Given the description of an element on the screen output the (x, y) to click on. 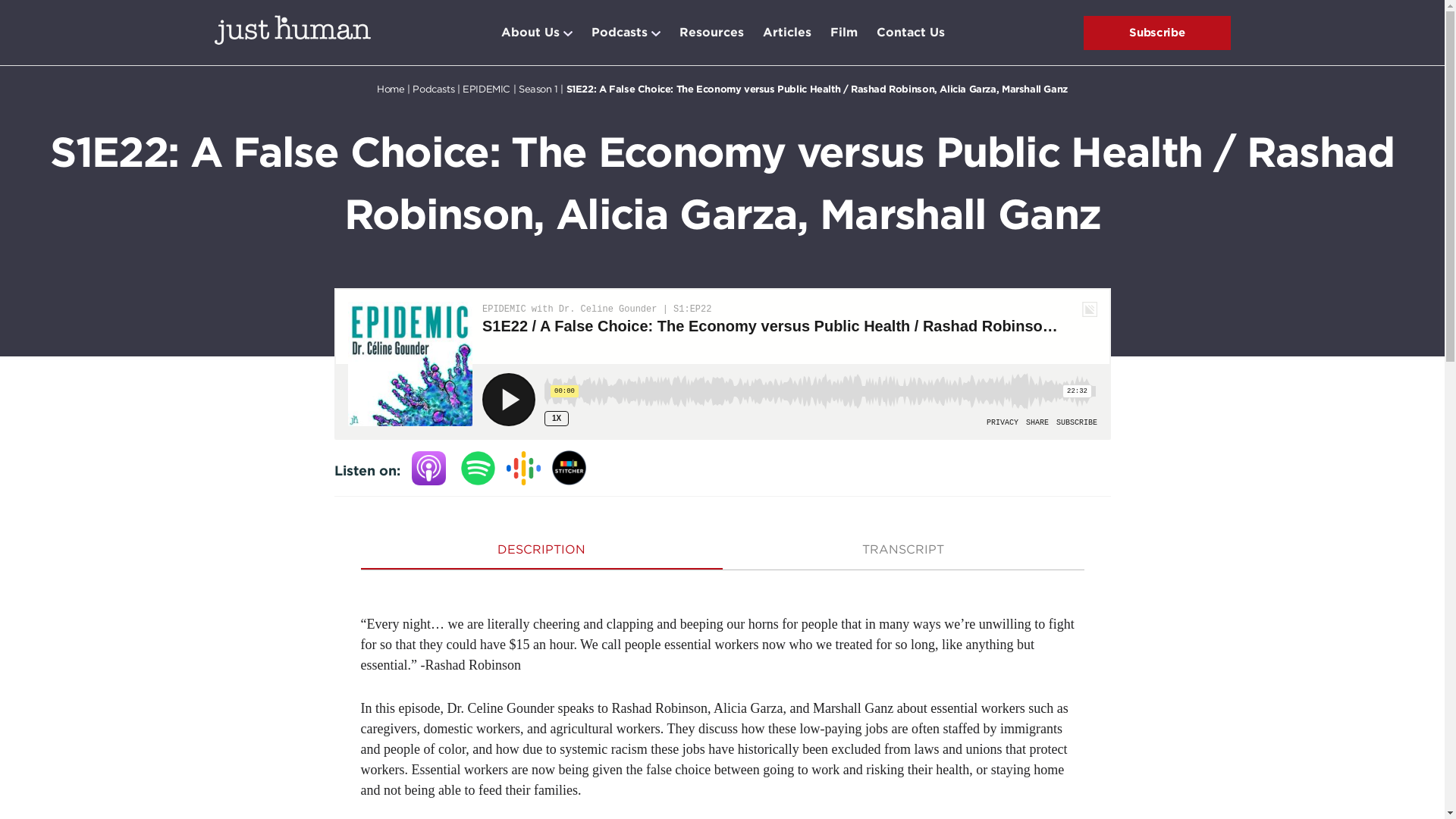
EPIDEMIC (487, 89)
About Us (529, 32)
Contact Us (910, 32)
Subscribe (1156, 32)
Resources (711, 32)
Film (843, 32)
Podcasts (433, 89)
Podcasts (619, 32)
Home (390, 89)
Articles (786, 32)
Season 1 (537, 89)
